Given the description of an element on the screen output the (x, y) to click on. 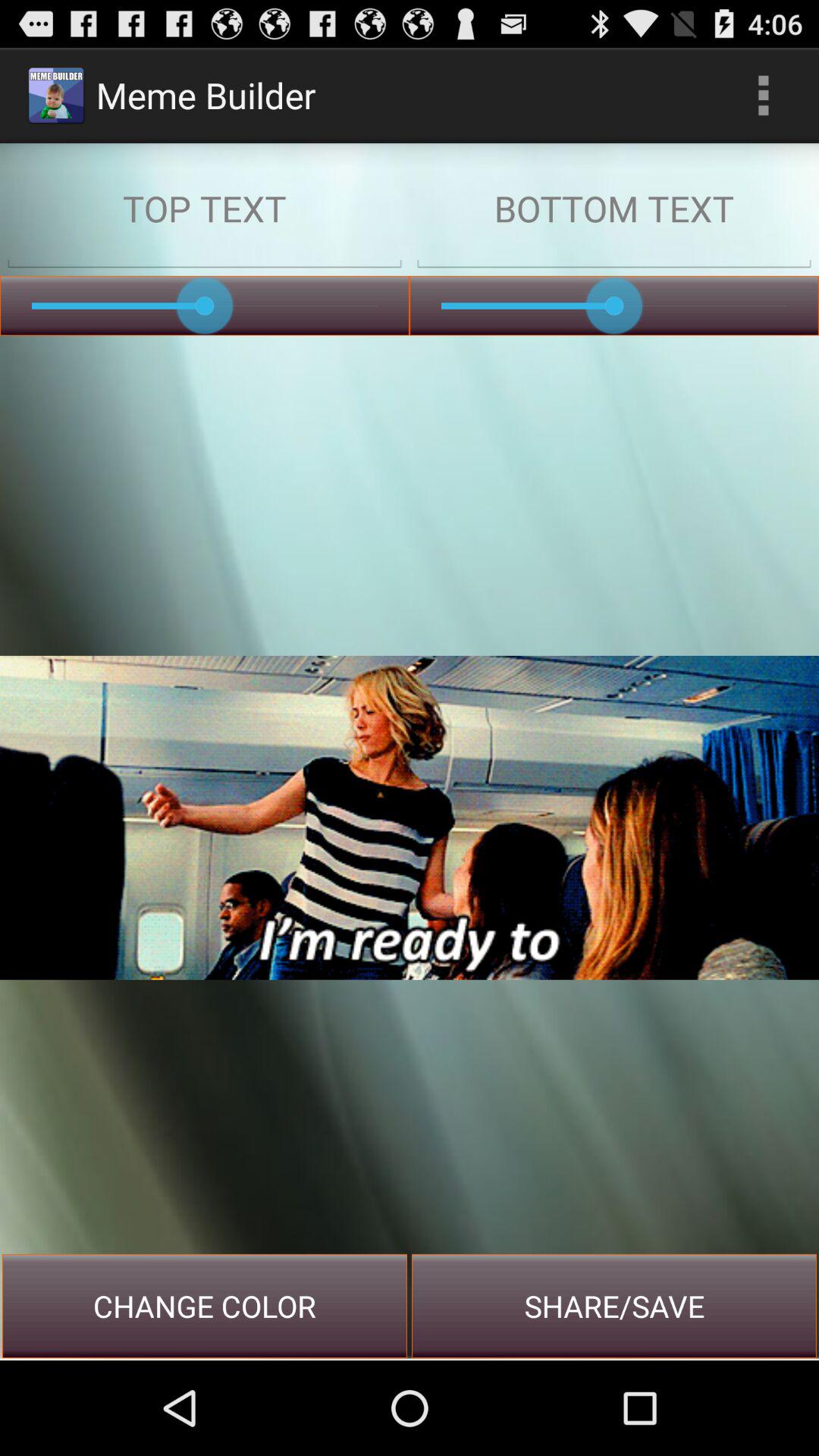
turn off icon next to change color (613, 1306)
